Given the description of an element on the screen output the (x, y) to click on. 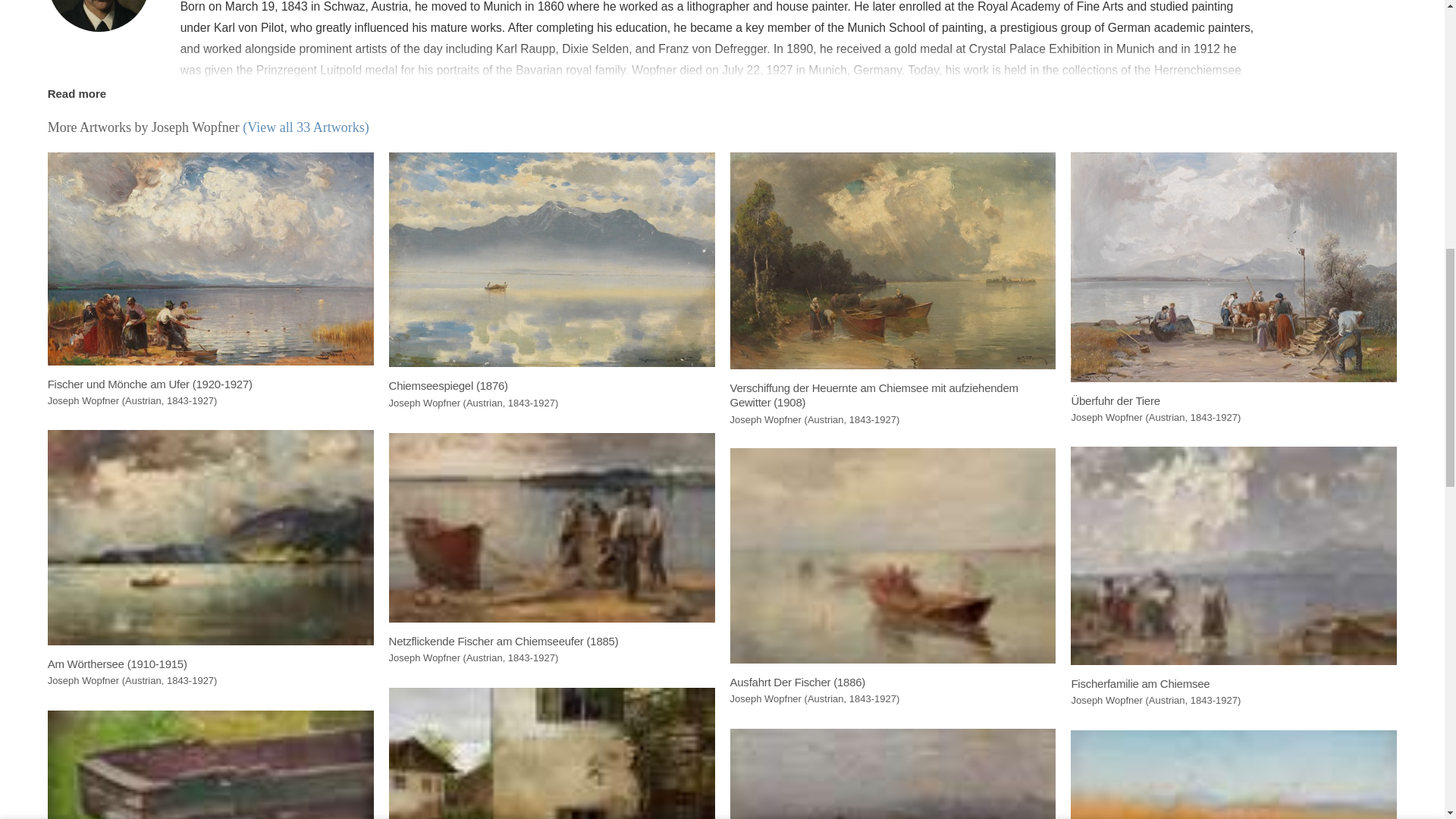
Joseph Wopfner (98, 15)
